Given the description of an element on the screen output the (x, y) to click on. 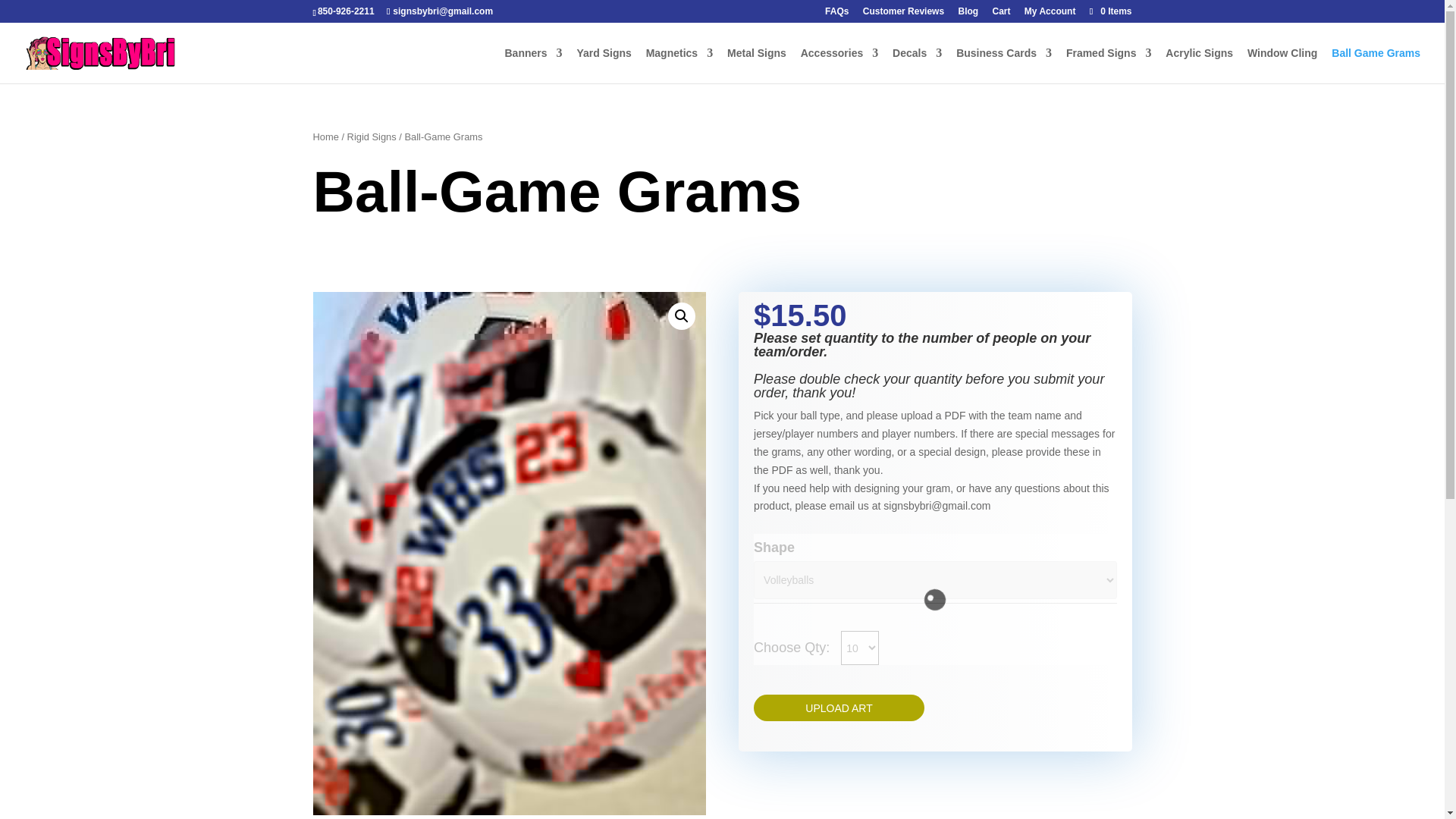
Cart (1000, 14)
Business Cards (1003, 65)
Customer Reviews (903, 14)
Window Cling (1282, 65)
Blog (968, 14)
Decals (917, 65)
My Account (1050, 14)
Banners (532, 65)
Acrylic Signs (1199, 65)
Ball Game Grams (1376, 65)
